Given the description of an element on the screen output the (x, y) to click on. 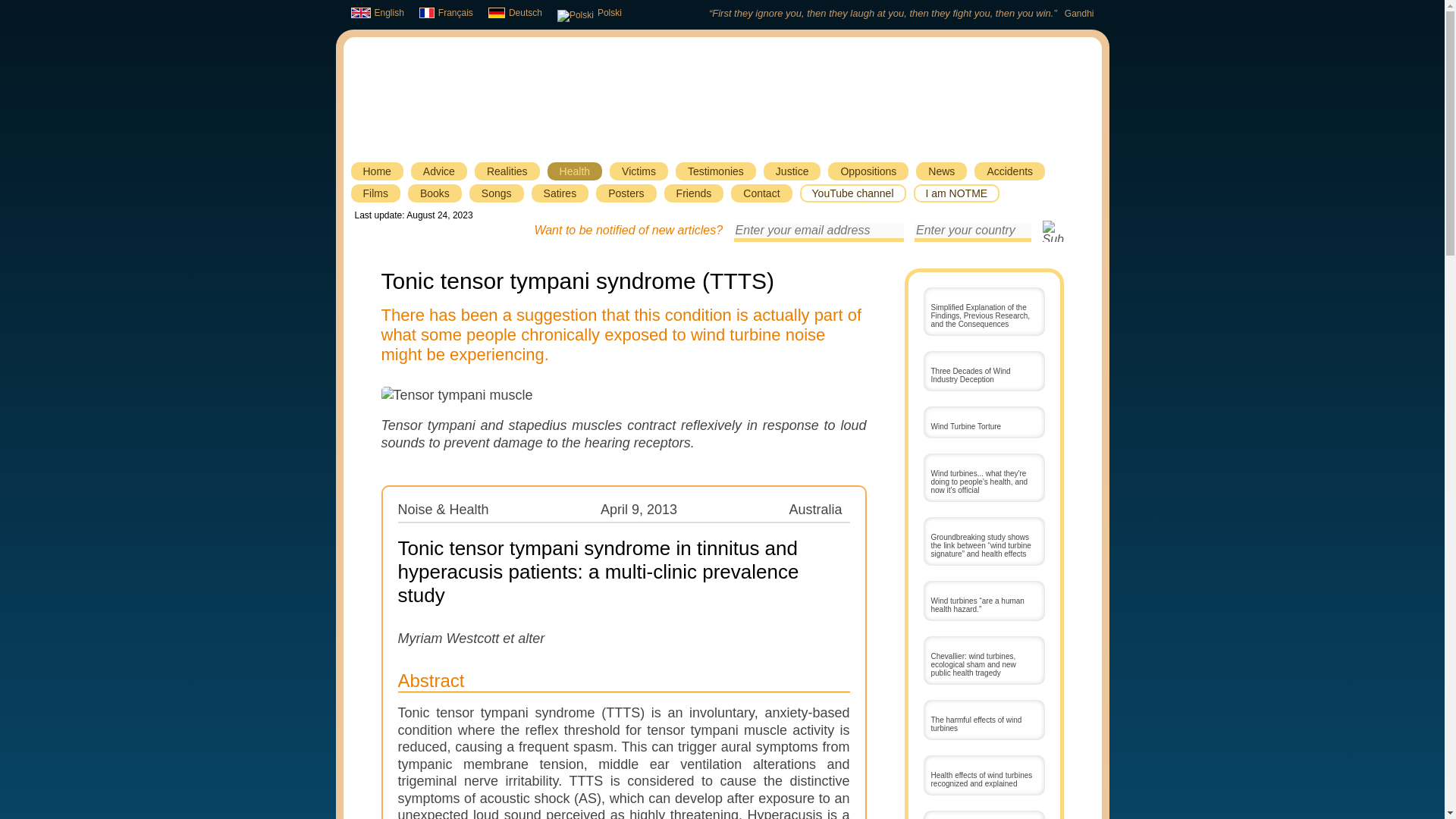
Health (574, 171)
Deutsch (514, 12)
Testimonies (715, 171)
Friends (693, 193)
Justice (791, 171)
Three Decades of Wind Industry Deception (984, 371)
Posters (625, 193)
Films (374, 193)
Home (376, 171)
